Given the description of an element on the screen output the (x, y) to click on. 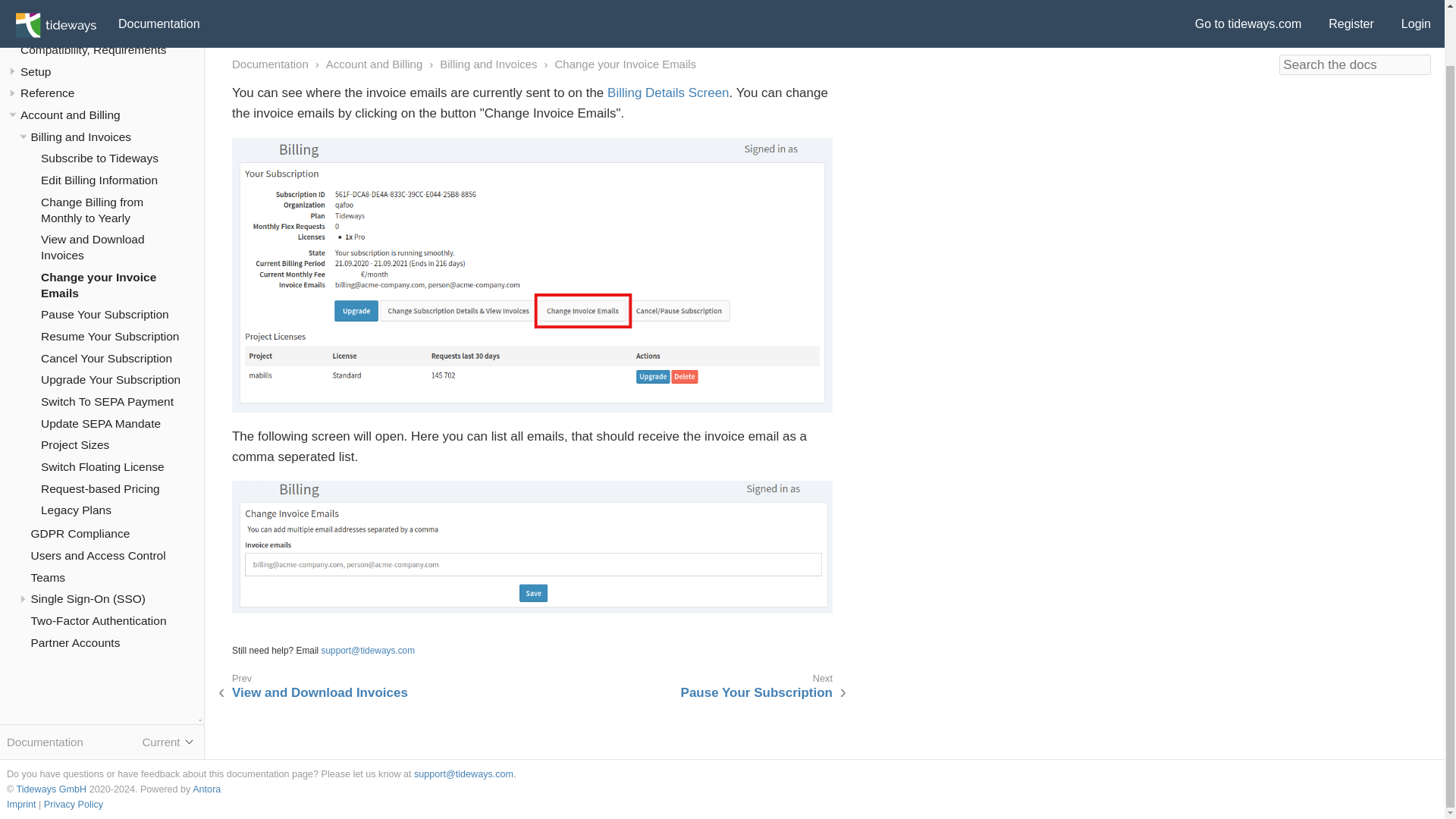
Features (43, 27)
Documentation (53, 5)
